Given the description of an element on the screen output the (x, y) to click on. 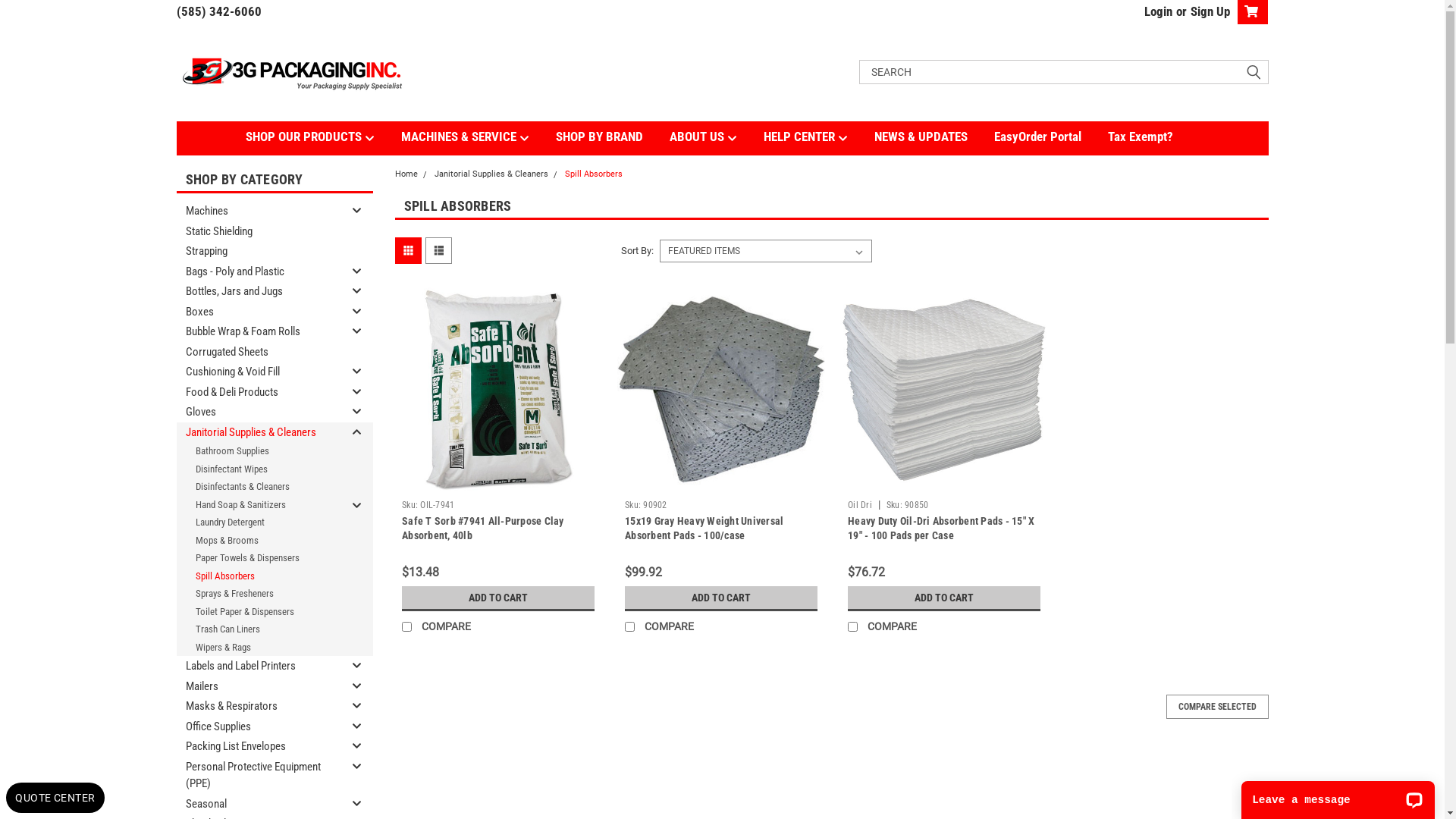
HELP CENTER Element type: text (817, 137)
Safe T Sorb #7941  All-Purpose Clay Absorbent, 40lb Element type: hover (498, 388)
Home Element type: text (405, 173)
Office Supplies Element type: text (258, 725)
Paper Towels & Dispensers Element type: text (258, 558)
Sign Up Element type: text (1207, 11)
Janitorial Supplies & Cleaners Element type: text (258, 431)
3G Packaging Inc. Element type: hover (289, 71)
QUOTE CENTER Element type: text (55, 797)
Tax Exempt? Element type: text (1152, 136)
Corrugated Sheets Element type: text (258, 351)
COMPARE SELECTED Element type: text (1217, 706)
SHOP BY BRAND Element type: text (611, 136)
Sku: 90850 Element type: text (907, 503)
Disinfectants & Cleaners Element type: text (258, 486)
ADD TO CART Element type: text (497, 597)
Mailers Element type: text (258, 686)
Mops & Brooms Element type: text (258, 539)
Sku: 90902 Element type: text (645, 503)
SHOP OUR PRODUCTS Element type: text (323, 137)
Spill Absorbers Element type: text (592, 173)
Static Shielding Element type: text (258, 231)
Wipers & Rags Element type: text (258, 647)
Masks & Respirators Element type: text (258, 706)
Bags - Poly and Plastic Element type: text (258, 270)
Strapping Element type: text (258, 251)
Boxes Element type: text (258, 311)
Seasonal Element type: text (258, 803)
ABOUT US Element type: text (715, 137)
MACHINES & SERVICE Element type: text (477, 137)
Bubble Wrap & Foam Rolls Element type: text (258, 331)
Janitorial Supplies & Cleaners Element type: text (490, 173)
Bottles, Jars and Jugs Element type: text (258, 291)
submit Element type: hover (1252, 71)
Packing List Envelopes Element type: text (258, 746)
Food & Deli Products Element type: text (258, 392)
Laundry Detergent Element type: text (258, 522)
Safe T Sorb #7941 All-Purpose Clay Absorbent, 40lb Element type: text (482, 527)
Spill Absorbers Element type: text (258, 576)
Labels and Label Printers Element type: text (258, 665)
Login Element type: text (1157, 11)
Sprays & Fresheners Element type: text (258, 593)
NEWS & UPDATES Element type: text (933, 136)
Bathroom Supplies Element type: text (258, 451)
Cushioning & Void Fill Element type: text (258, 371)
15x19 Gray Heavy Weight Universal Absorbent Pads - 100/case Element type: text (703, 527)
EasyOrder Portal Element type: text (1050, 136)
Oil Dri Element type: text (859, 503)
Personal Protective Equipment (PPE) Element type: text (258, 774)
Gloves Element type: text (258, 411)
Toilet Paper & Dispensers Element type: text (258, 611)
Trash Can Liners Element type: text (258, 629)
ADD TO CART Element type: text (943, 597)
ADD TO CART Element type: text (720, 597)
Hand Soap & Sanitizers Element type: text (258, 504)
Disinfectant Wipes Element type: text (258, 468)
Machines Element type: text (258, 210)
Sku: OIL-7941 Element type: text (427, 503)
Oil Mat, Spill Mat, Pig Mats, Spill Pads, Oil Pads Element type: hover (944, 388)
15x19 Gray Heavy Weight Universal Absorbent Pads - 100/case Element type: hover (721, 388)
